Given the description of an element on the screen output the (x, y) to click on. 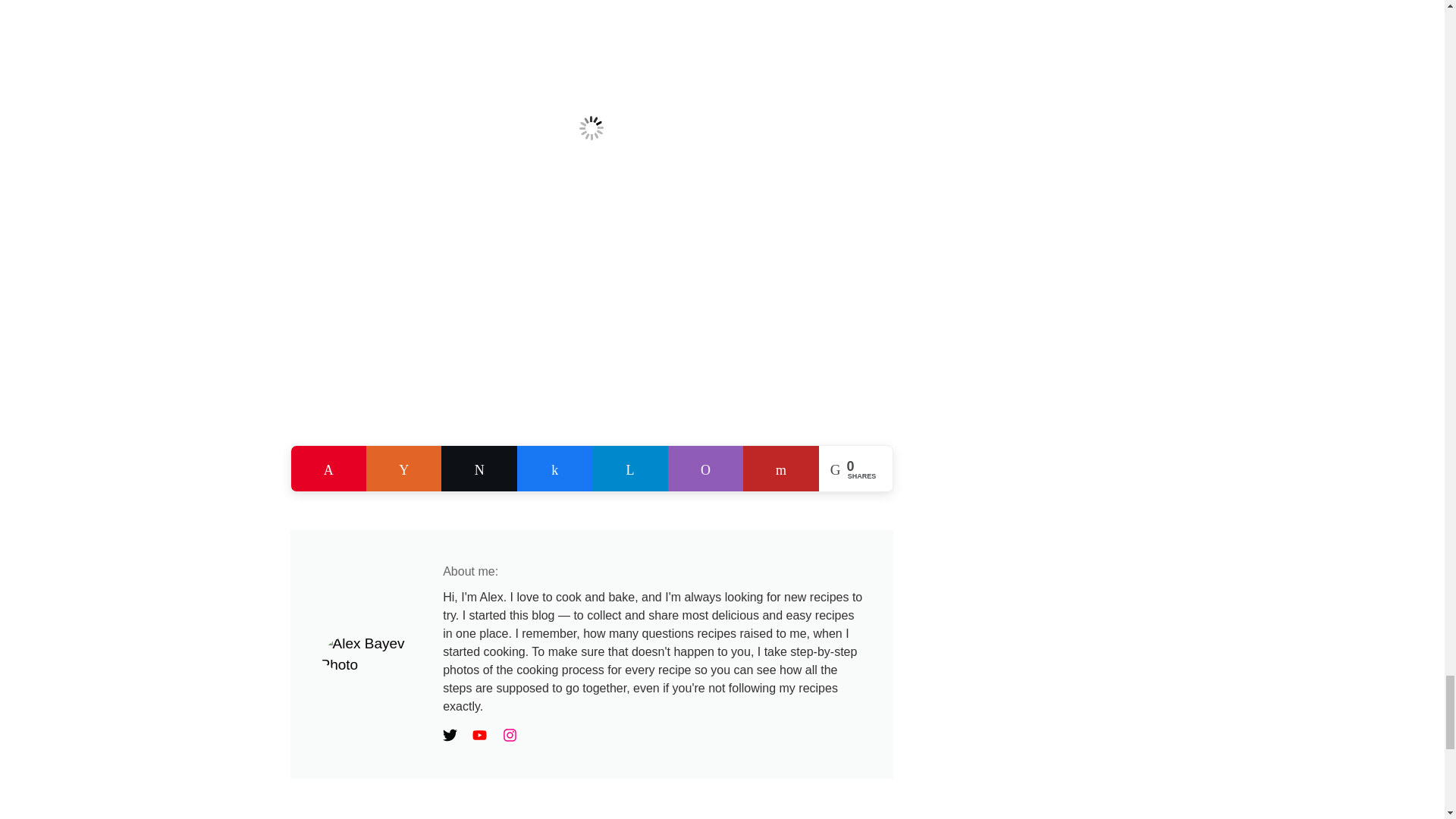
Alex Bayev Photo (374, 654)
